Given the description of an element on the screen output the (x, y) to click on. 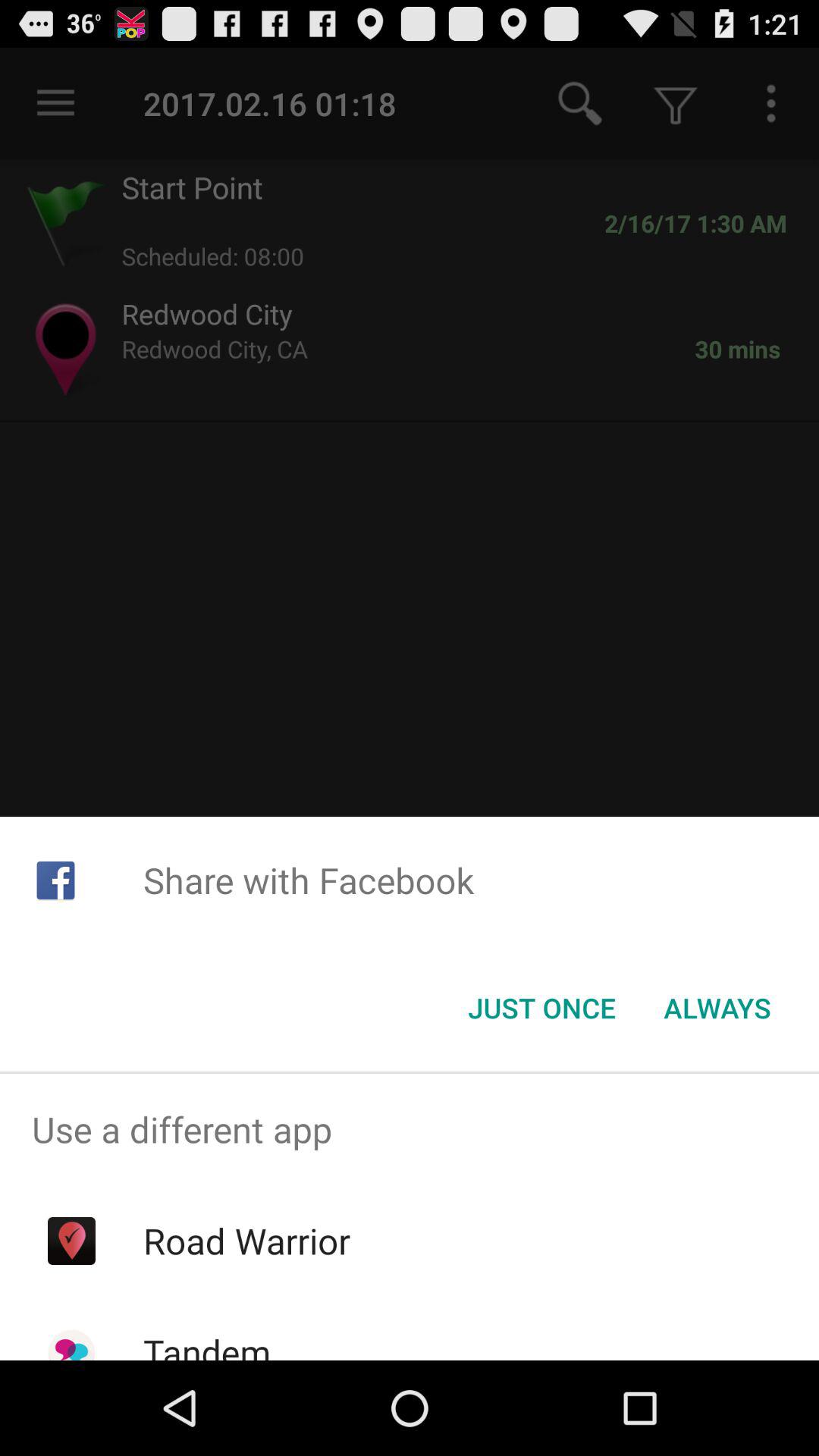
choose the use a different item (409, 1129)
